Given the description of an element on the screen output the (x, y) to click on. 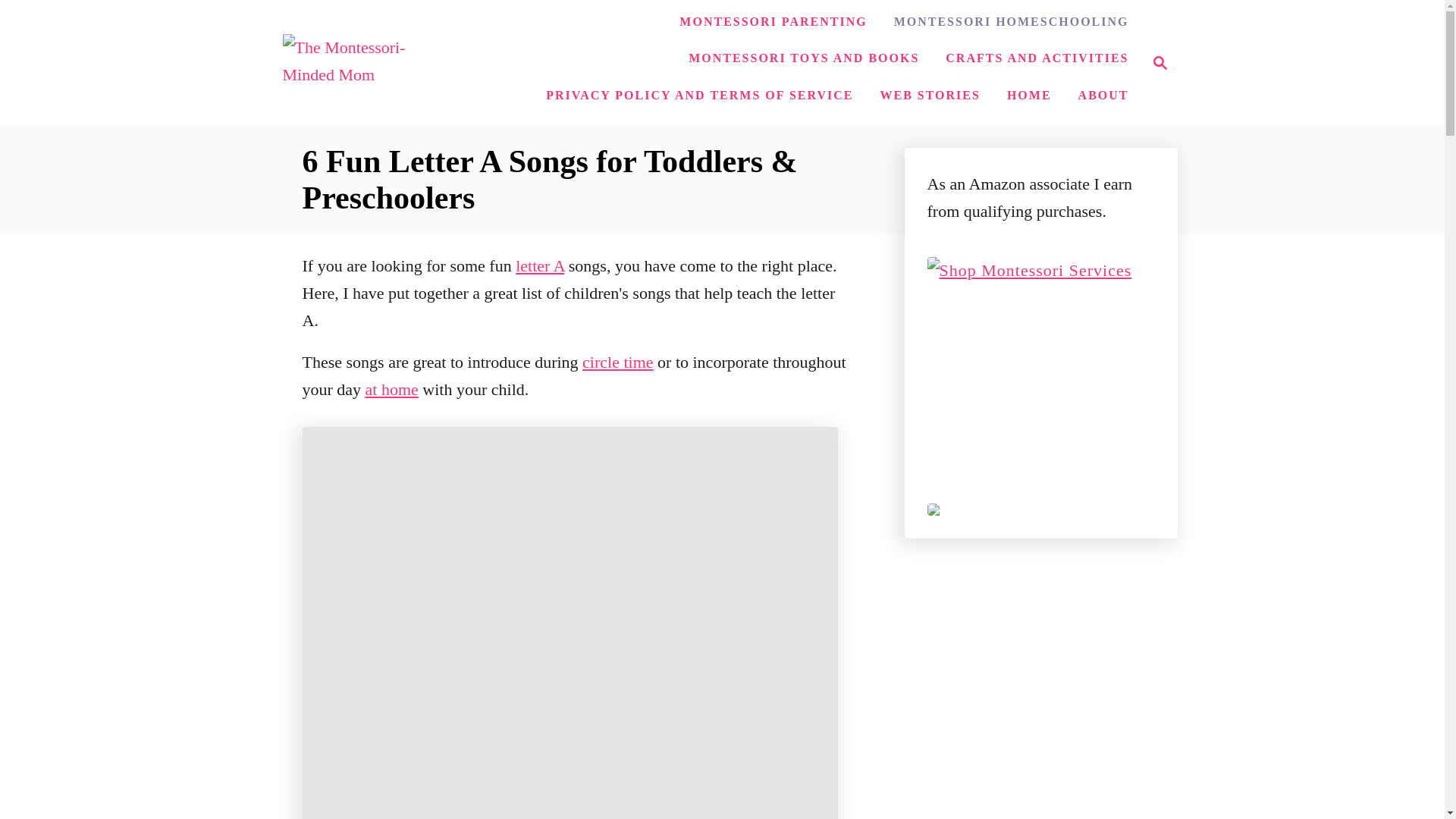
MONTESSORI TOYS AND BOOKS (803, 58)
ABOUT (1103, 95)
circle time (617, 361)
letter A (539, 265)
The Montessori-Minded Mom (367, 62)
PRIVACY POLICY AND TERMS OF SERVICE (699, 95)
Magnifying Glass (1160, 63)
MONTESSORI HOMESCHOOLING (1011, 21)
at home (392, 389)
HOME (1155, 62)
WEB STORIES (1028, 95)
CRAFTS AND ACTIVITIES (929, 95)
MONTESSORI PARENTING (1036, 58)
